Given the description of an element on the screen output the (x, y) to click on. 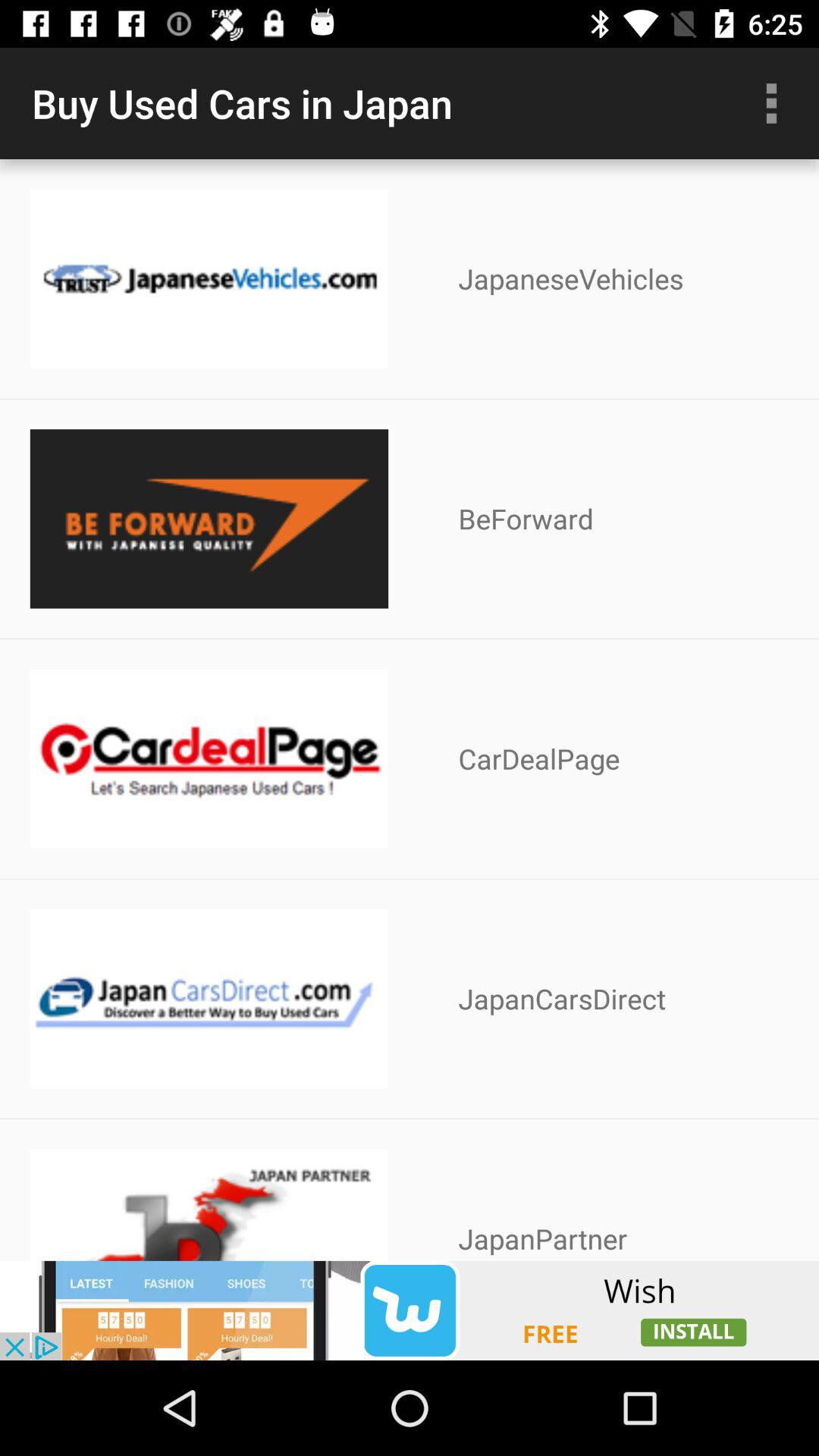
toggle settings (771, 103)
